Given the description of an element on the screen output the (x, y) to click on. 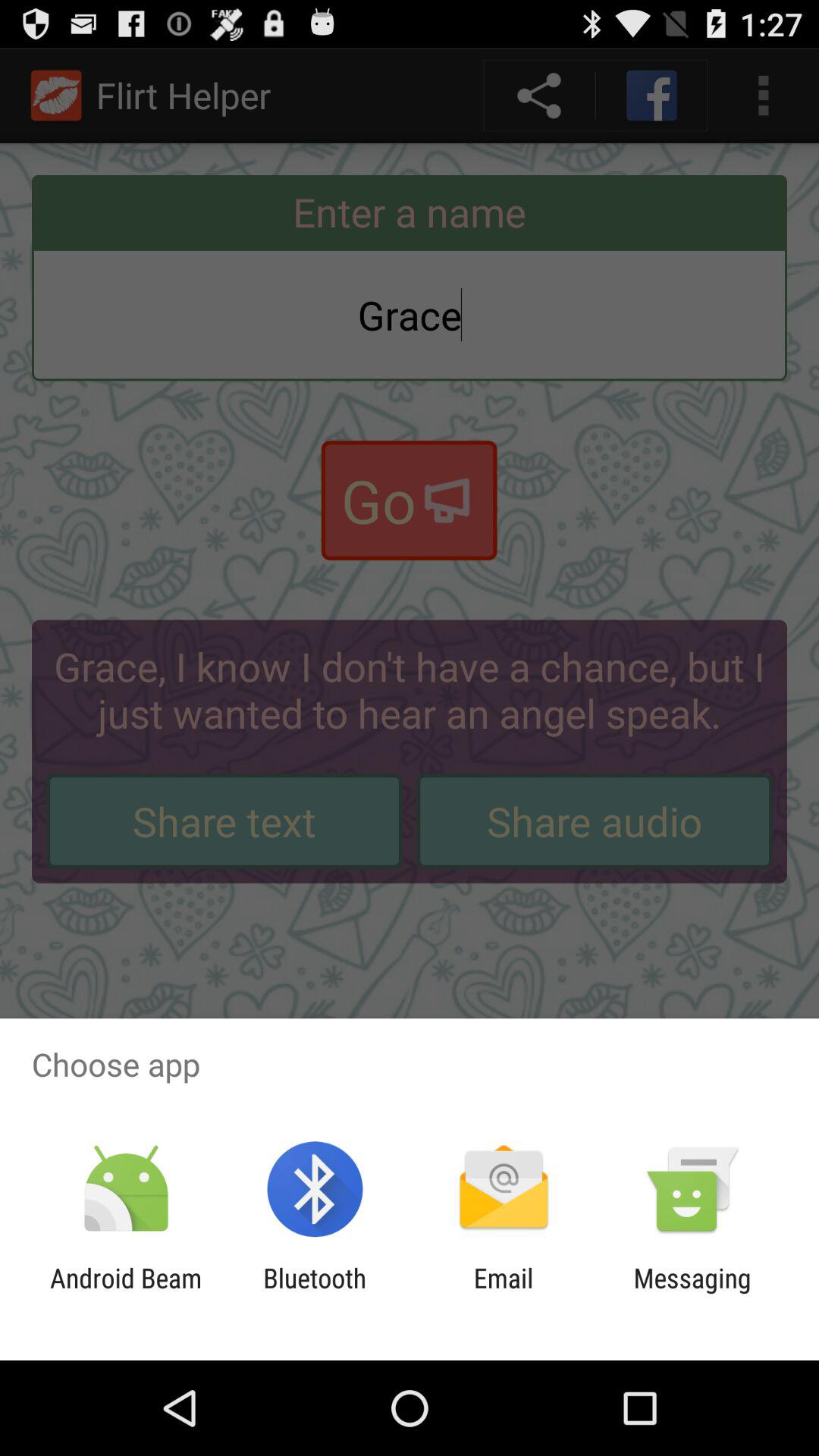
press the icon next to the messaging (503, 1293)
